Given the description of an element on the screen output the (x, y) to click on. 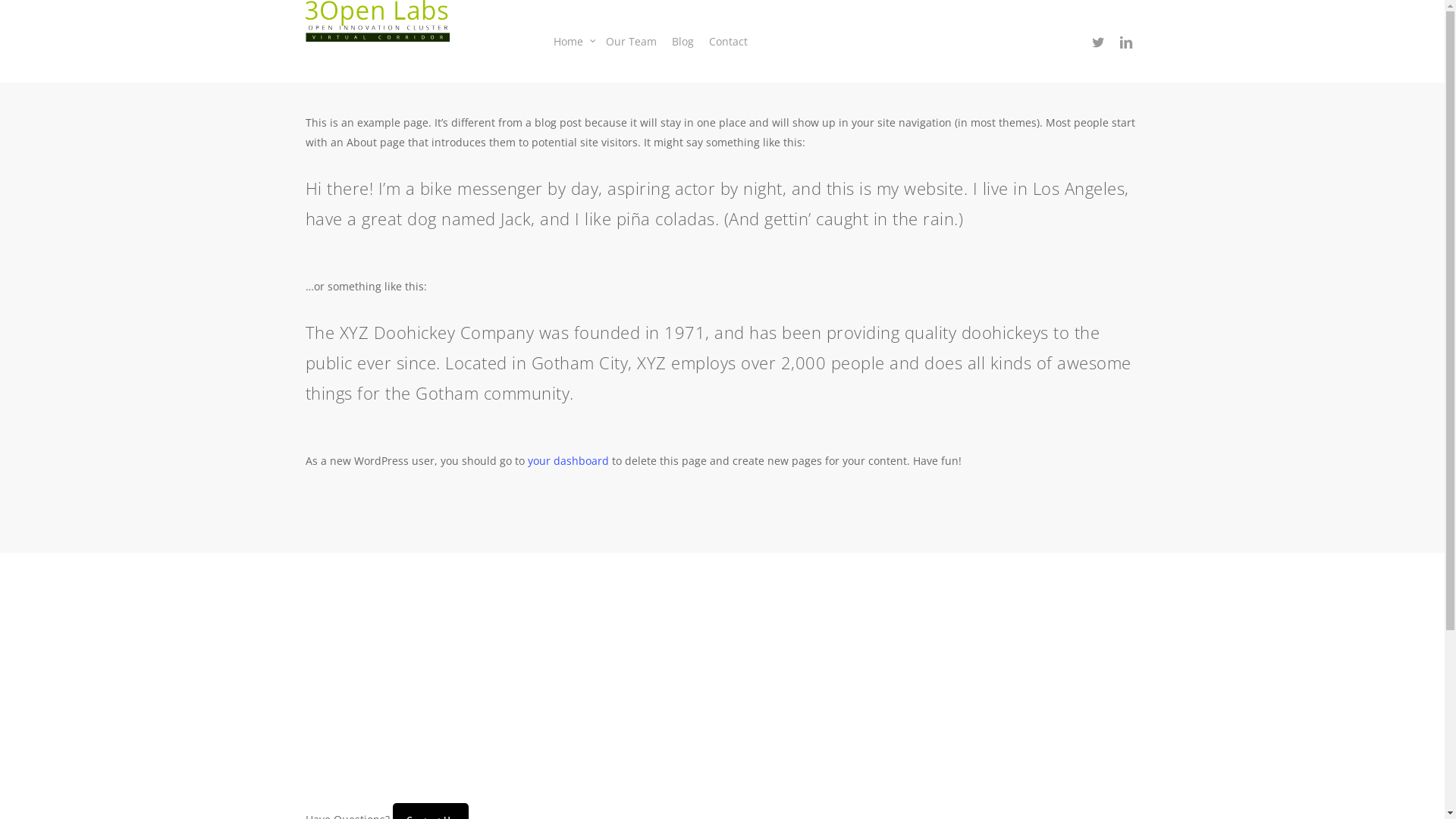
Contact Element type: text (727, 40)
Home Element type: text (571, 40)
linkedin Element type: text (1125, 40)
twitter Element type: text (1097, 40)
your dashboard Element type: text (567, 460)
Blog Element type: text (682, 40)
Our Team Element type: text (630, 40)
